Given the description of an element on the screen output the (x, y) to click on. 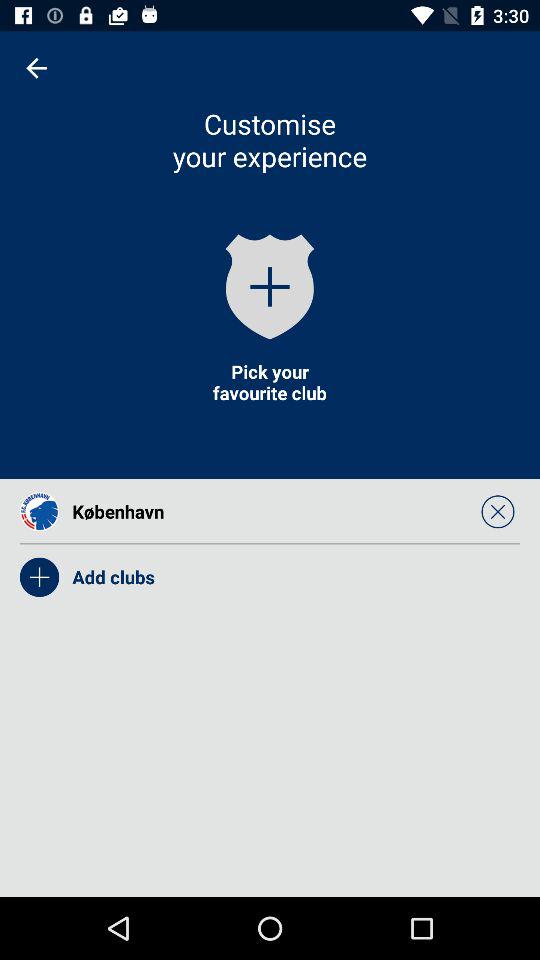
go to previous (36, 68)
